Given the description of an element on the screen output the (x, y) to click on. 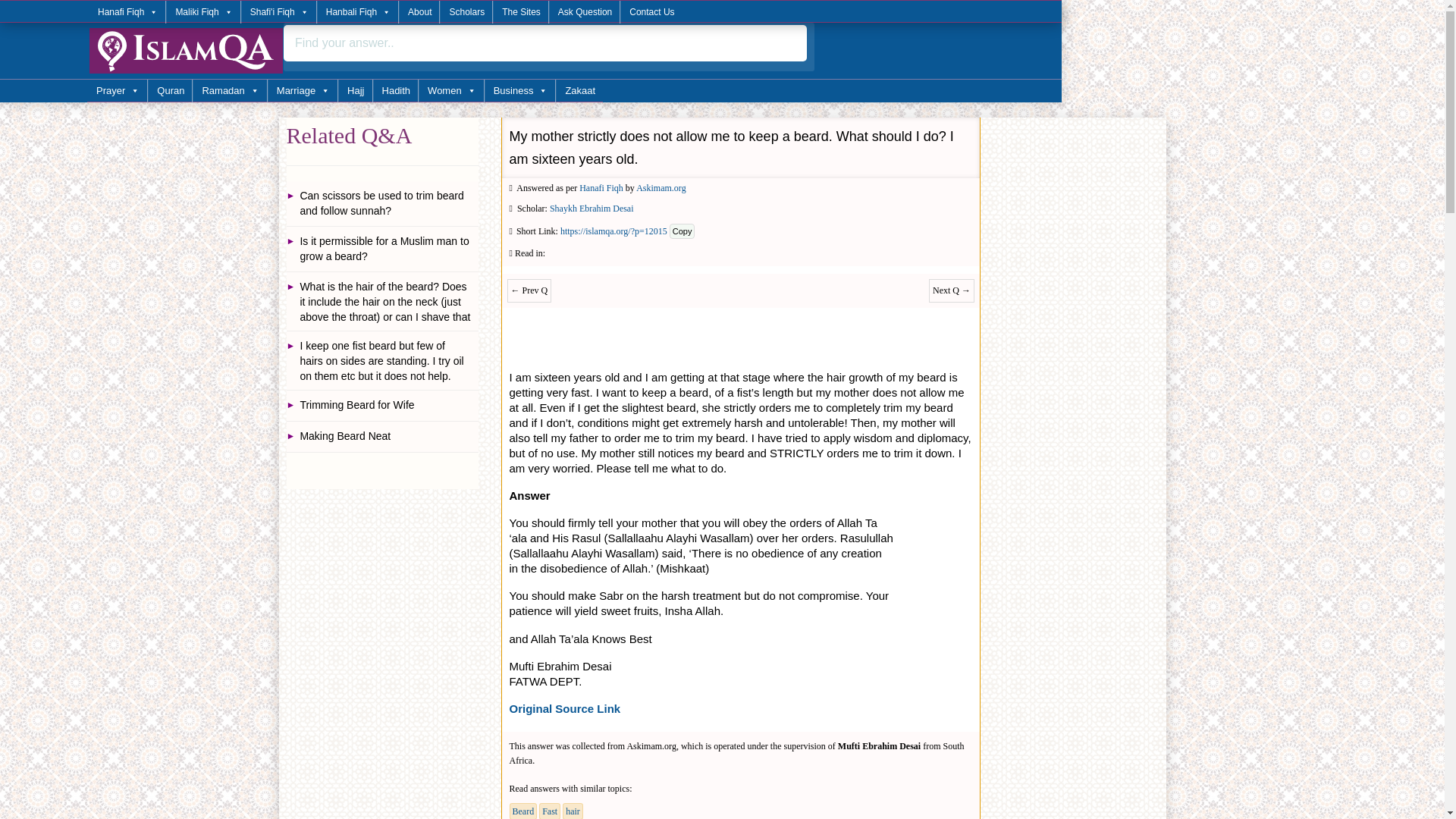
Hanafi Fiqh (126, 11)
Maliki Fiqh (202, 11)
Shaykh Ebrahim Desai (591, 208)
